Given the description of an element on the screen output the (x, y) to click on. 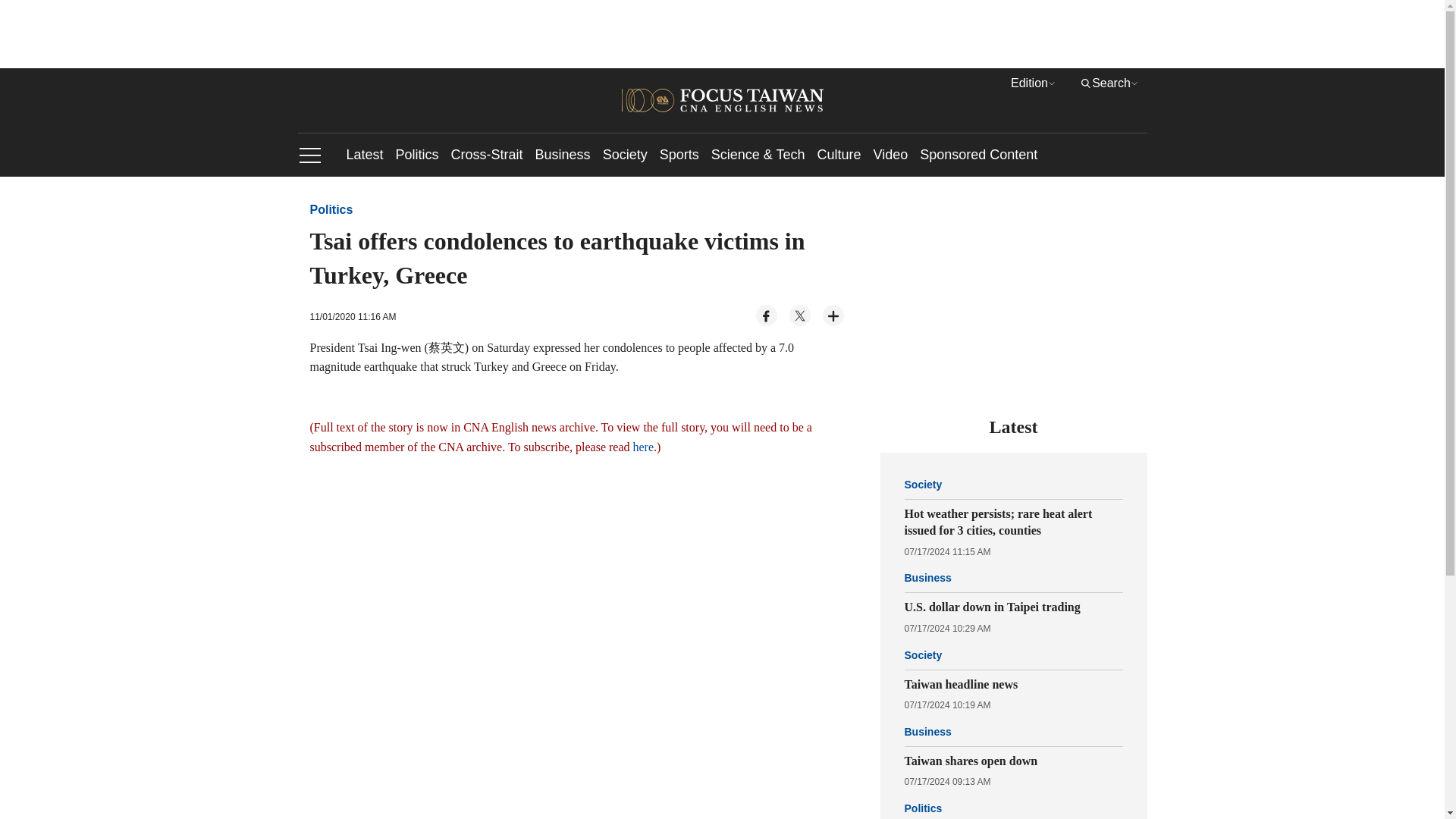
Latest (364, 154)
